Given the description of an element on the screen output the (x, y) to click on. 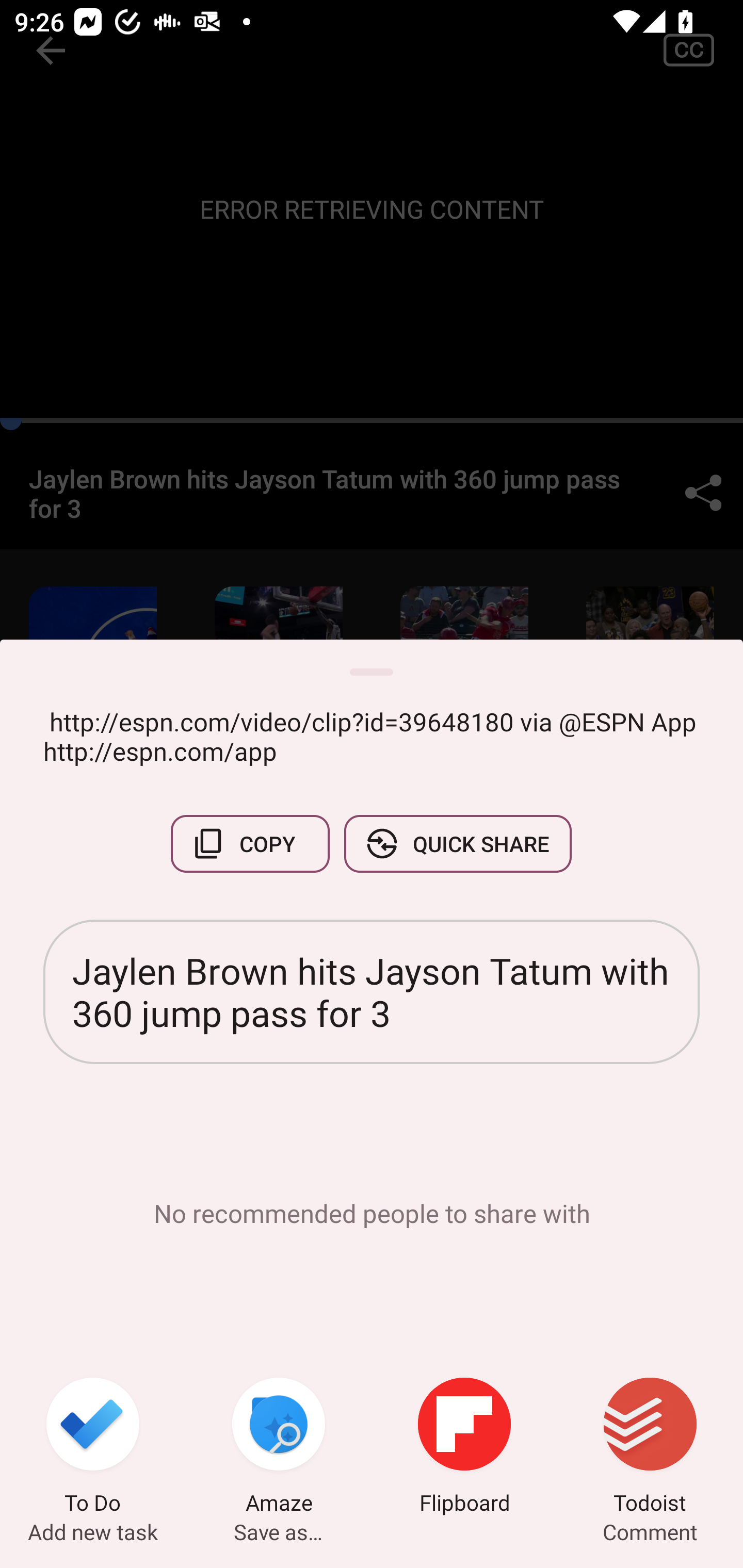
COPY (249, 844)
QUICK SHARE (457, 844)
To Do Add new task (92, 1448)
Amaze Save as… (278, 1448)
Flipboard (464, 1448)
Todoist Comment (650, 1448)
